Given the description of an element on the screen output the (x, y) to click on. 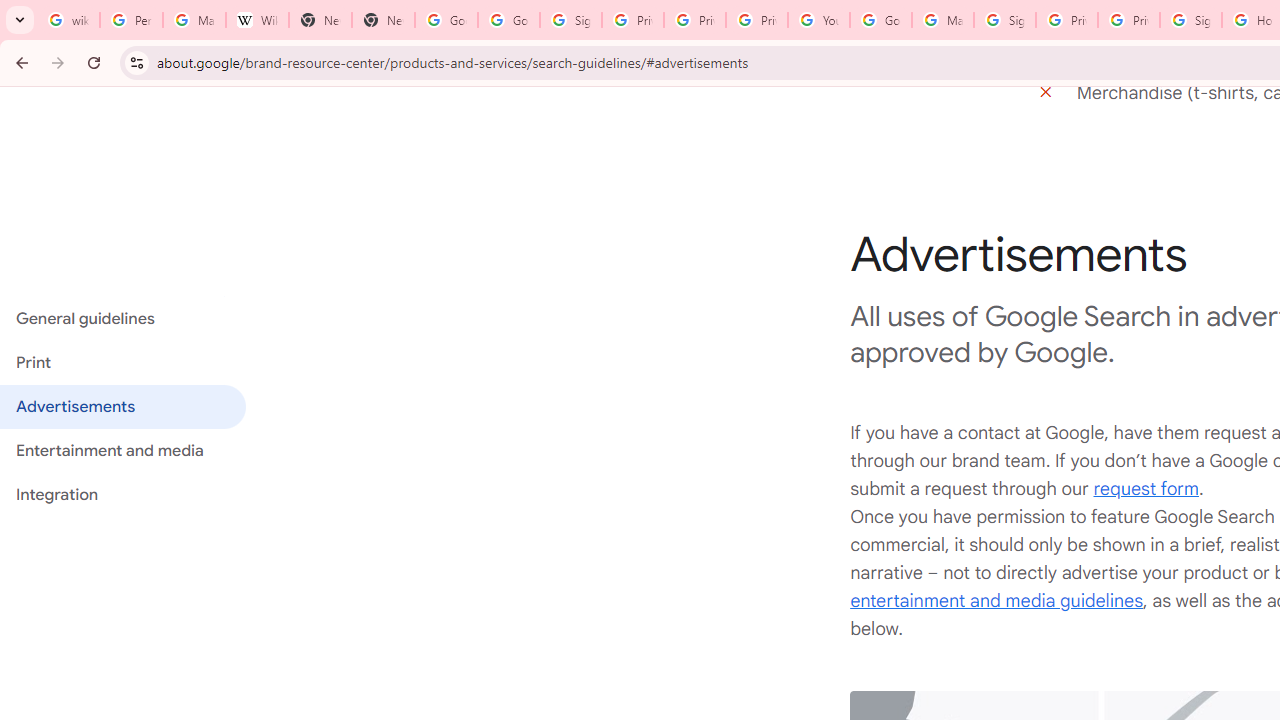
General guidelines (122, 318)
Sign in - Google Accounts (1190, 20)
Google Drive: Sign-in (508, 20)
Manage your Location History - Google Search Help (194, 20)
Entertainment and media (122, 451)
New Tab (383, 20)
YouTube (818, 20)
Sign in - Google Accounts (570, 20)
Personalization & Google Search results - Google Search Help (130, 20)
Wikipedia:Edit requests - Wikipedia (257, 20)
